Given the description of an element on the screen output the (x, y) to click on. 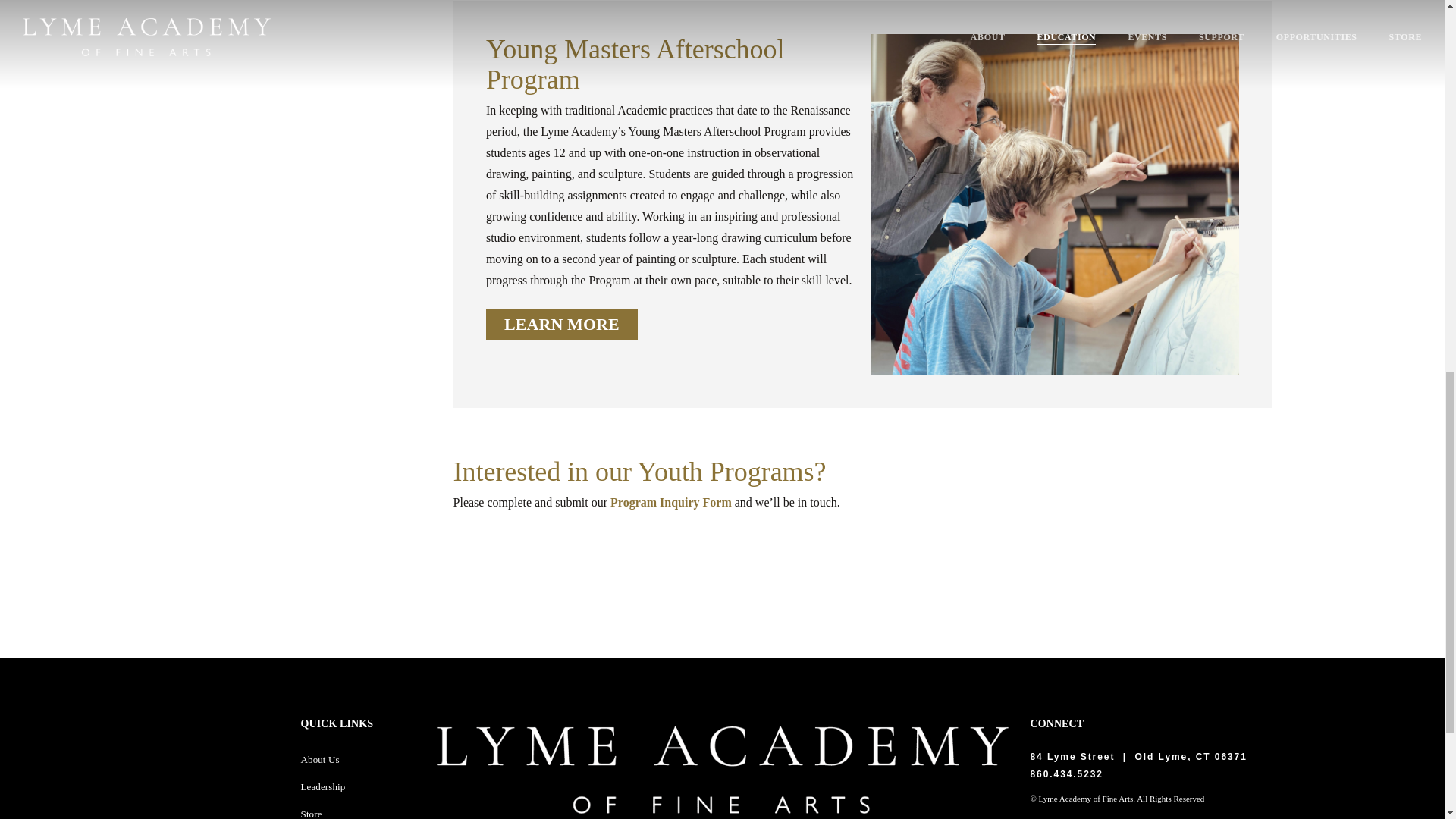
Leadership (323, 786)
Program Inquiry Form (671, 502)
LEARN MORE (561, 324)
About Us (320, 758)
